Given the description of an element on the screen output the (x, y) to click on. 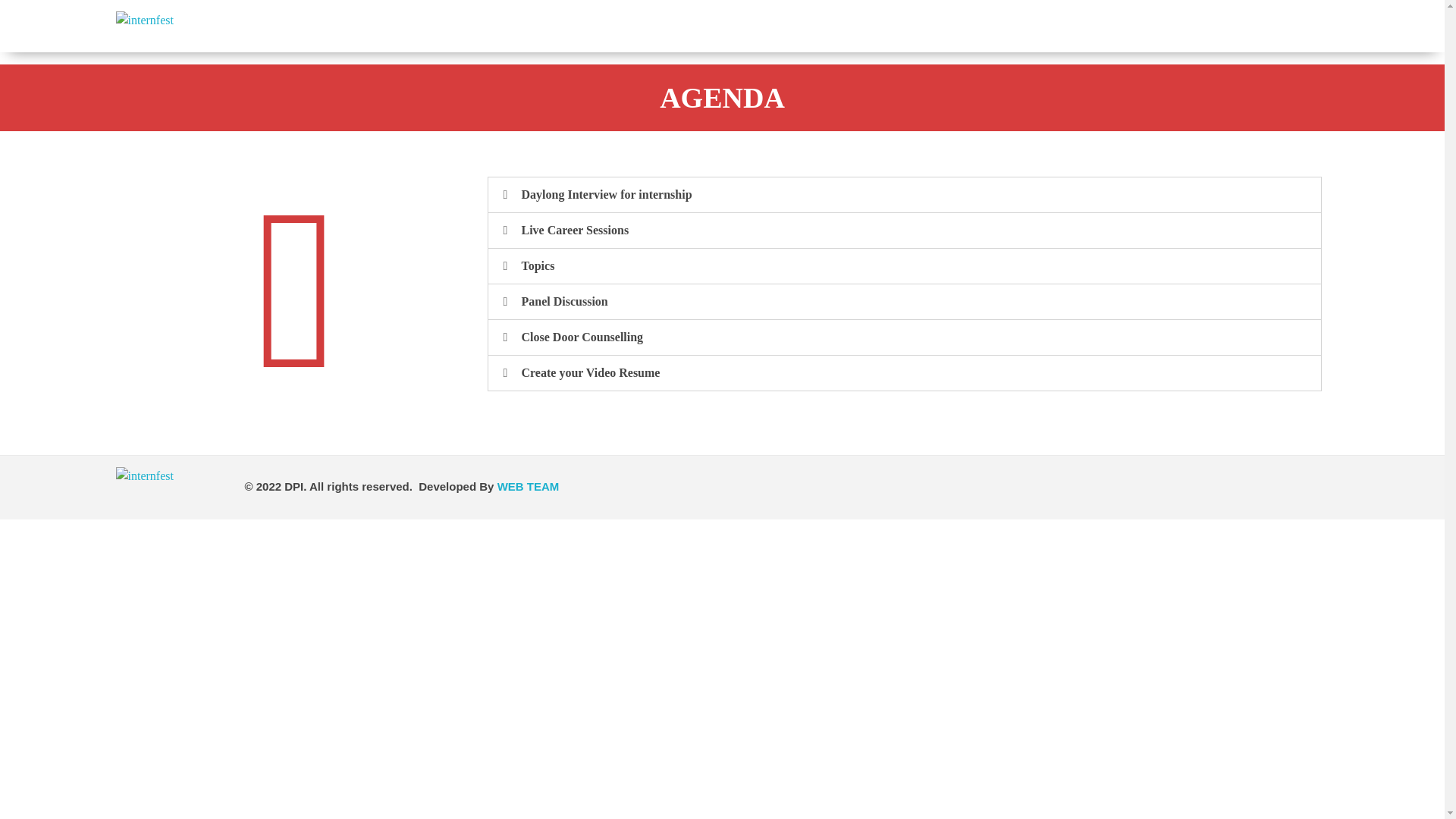
Daylong Interview for internship (607, 194)
Close Door Counselling (582, 336)
Live Career Sessions (574, 229)
WEB TEAM (528, 486)
Create your Video Resume (591, 372)
Internship Fest (180, 60)
Topics (537, 265)
Panel Discussion (564, 300)
Internship Fest (171, 486)
Internship Fest (171, 31)
